Given the description of an element on the screen output the (x, y) to click on. 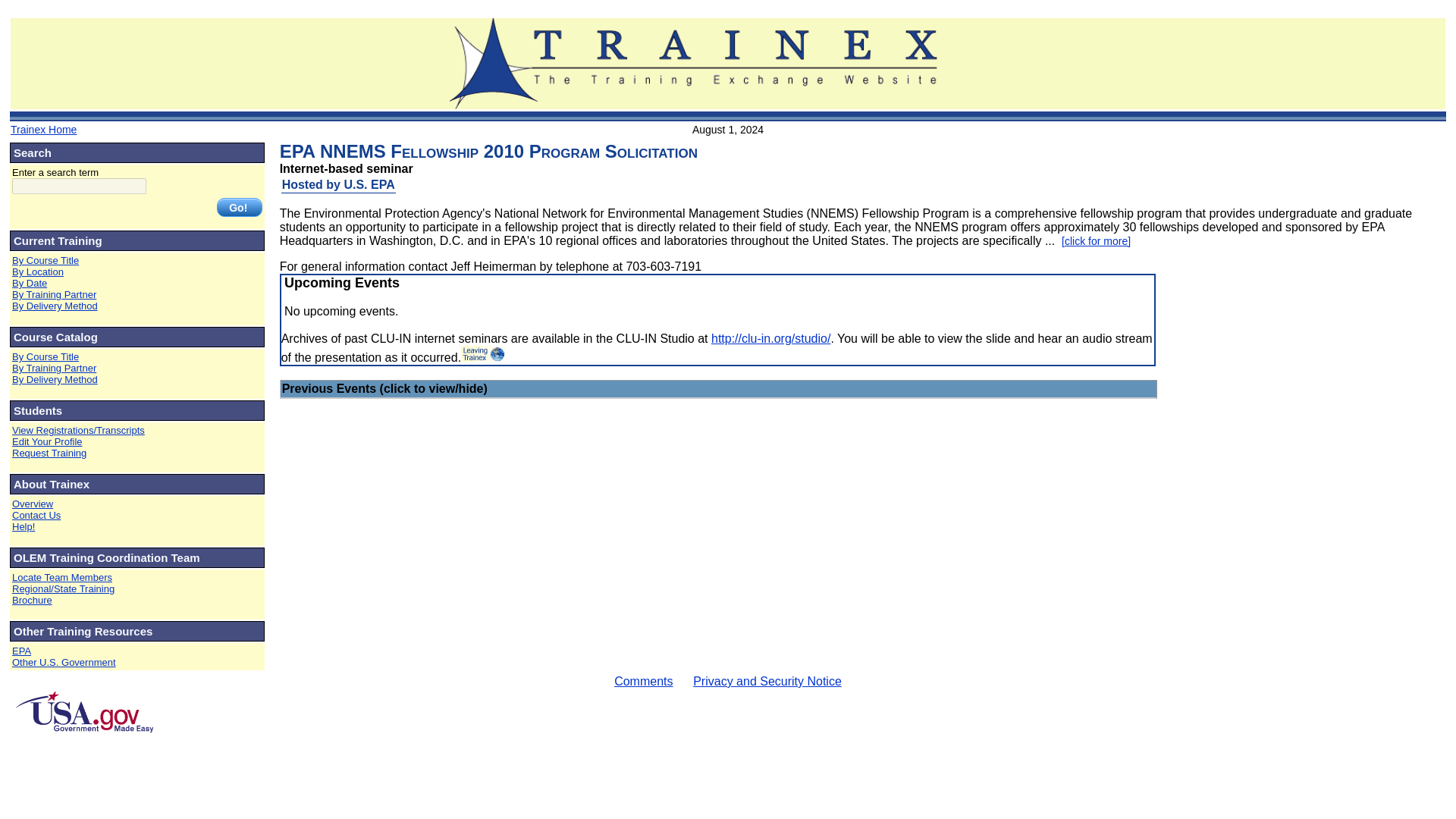
Go! (239, 207)
Locate Team Members (61, 577)
By Delivery Method (54, 378)
Contact Us (36, 514)
Go! (239, 207)
By Location (37, 271)
Comments (643, 680)
By Training Partner (53, 367)
By Course Title (44, 356)
By Delivery Method (54, 311)
By Training Partner (53, 294)
Privacy and Security Notice (767, 680)
Trainex Home (43, 129)
Search Term (79, 186)
Website Search (136, 192)
